Given the description of an element on the screen output the (x, y) to click on. 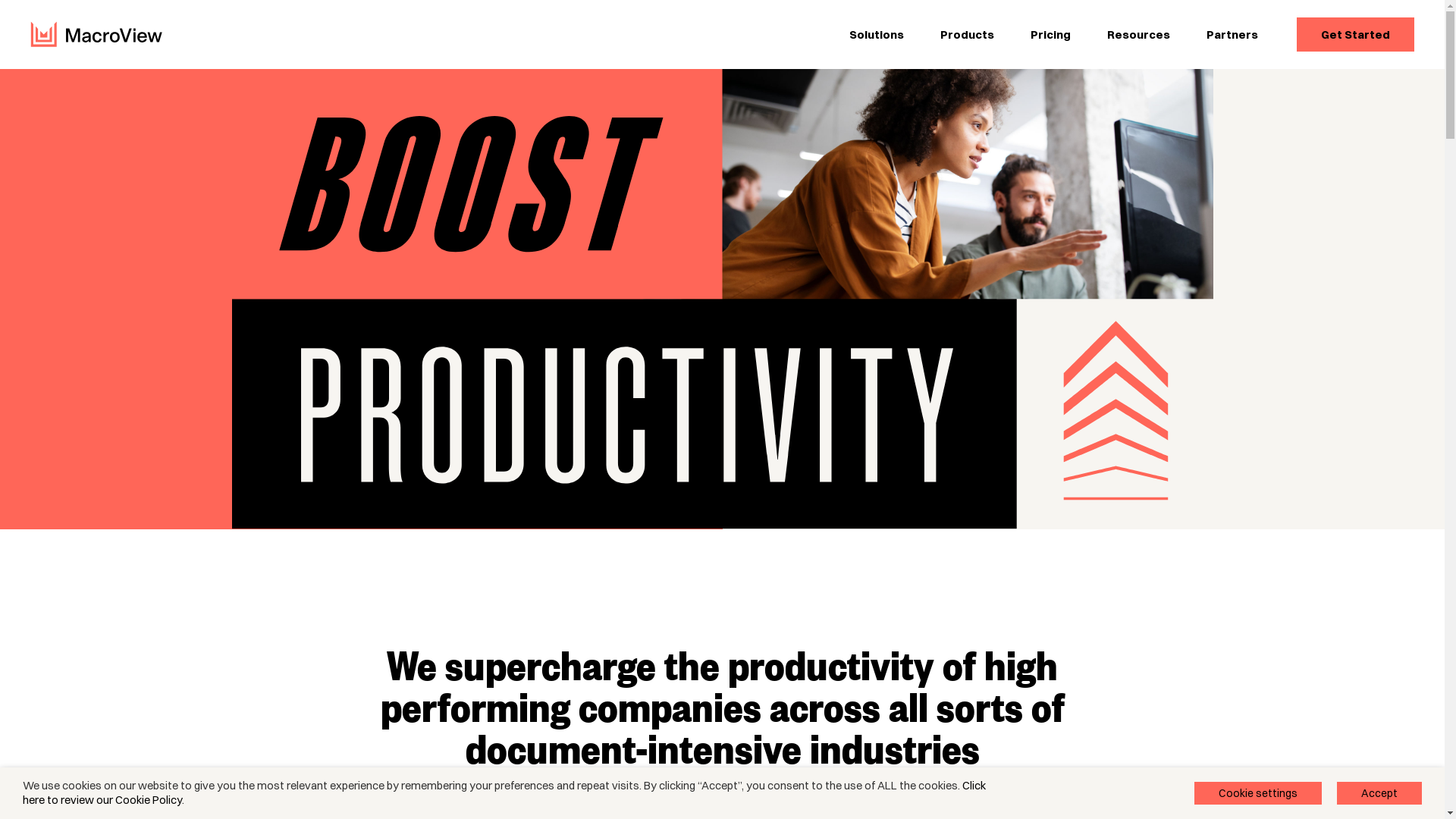
Products Element type: text (967, 34)
Cookie settings Element type: text (1257, 792)
Click here to review our Cookie Policy Element type: text (503, 792)
Get Started Element type: text (1355, 34)
Pricing Element type: text (1050, 34)
Partners Element type: text (1232, 34)
Resources Element type: text (1138, 34)
Accept Element type: text (1378, 792)
Solutions Element type: text (876, 34)
